Given the description of an element on the screen output the (x, y) to click on. 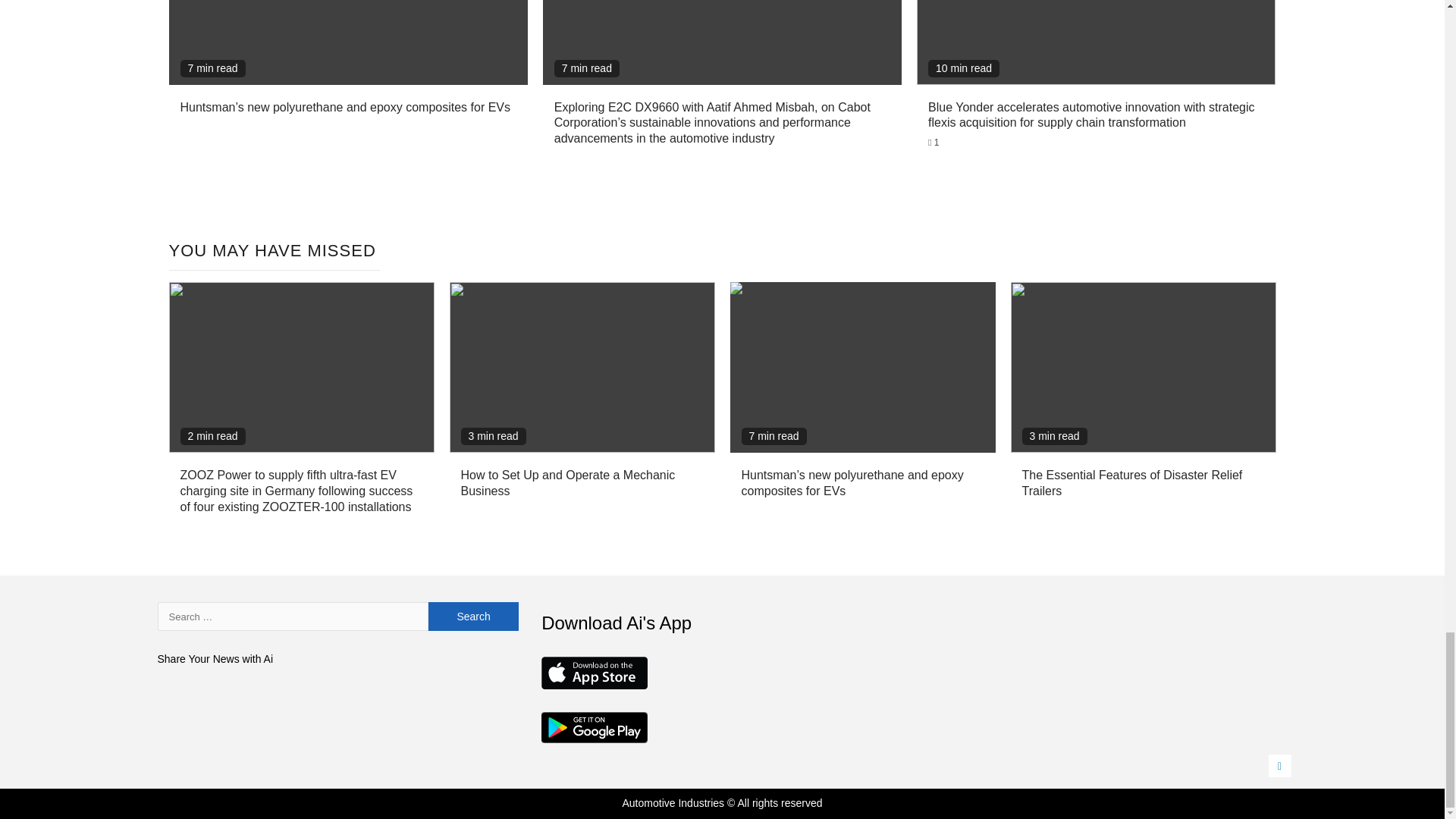
Search (473, 615)
Search (473, 615)
